Given the description of an element on the screen output the (x, y) to click on. 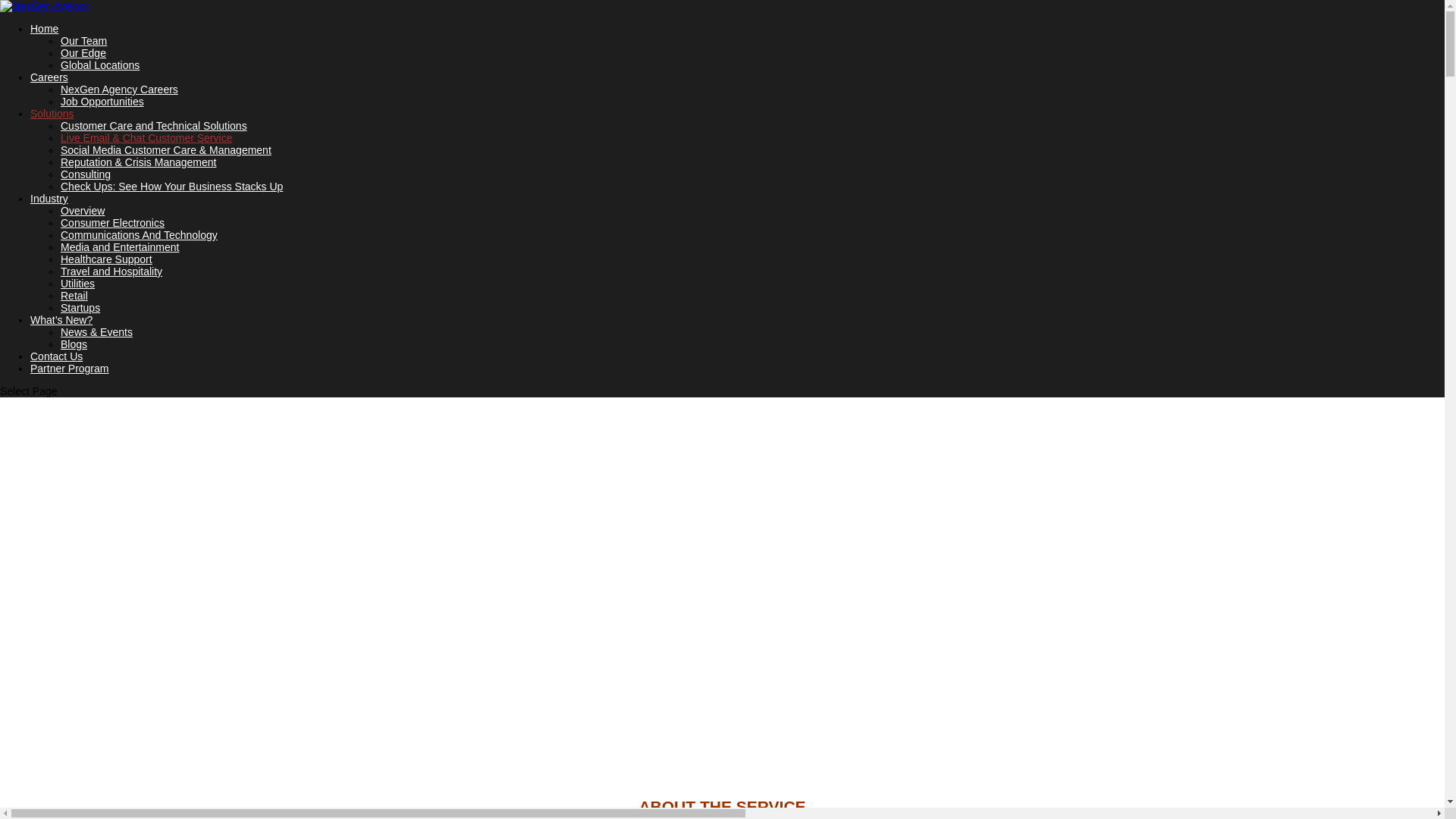
Careers (49, 77)
Healthcare Support (106, 259)
Check Ups: See How Your Business Stacks Up (171, 186)
Overview (82, 210)
Consumer Electronics (112, 223)
Contact Us (56, 356)
Utilities (77, 283)
Travel and Hospitality (111, 271)
Communications And Technology (138, 234)
Consulting (85, 174)
